Given the description of an element on the screen output the (x, y) to click on. 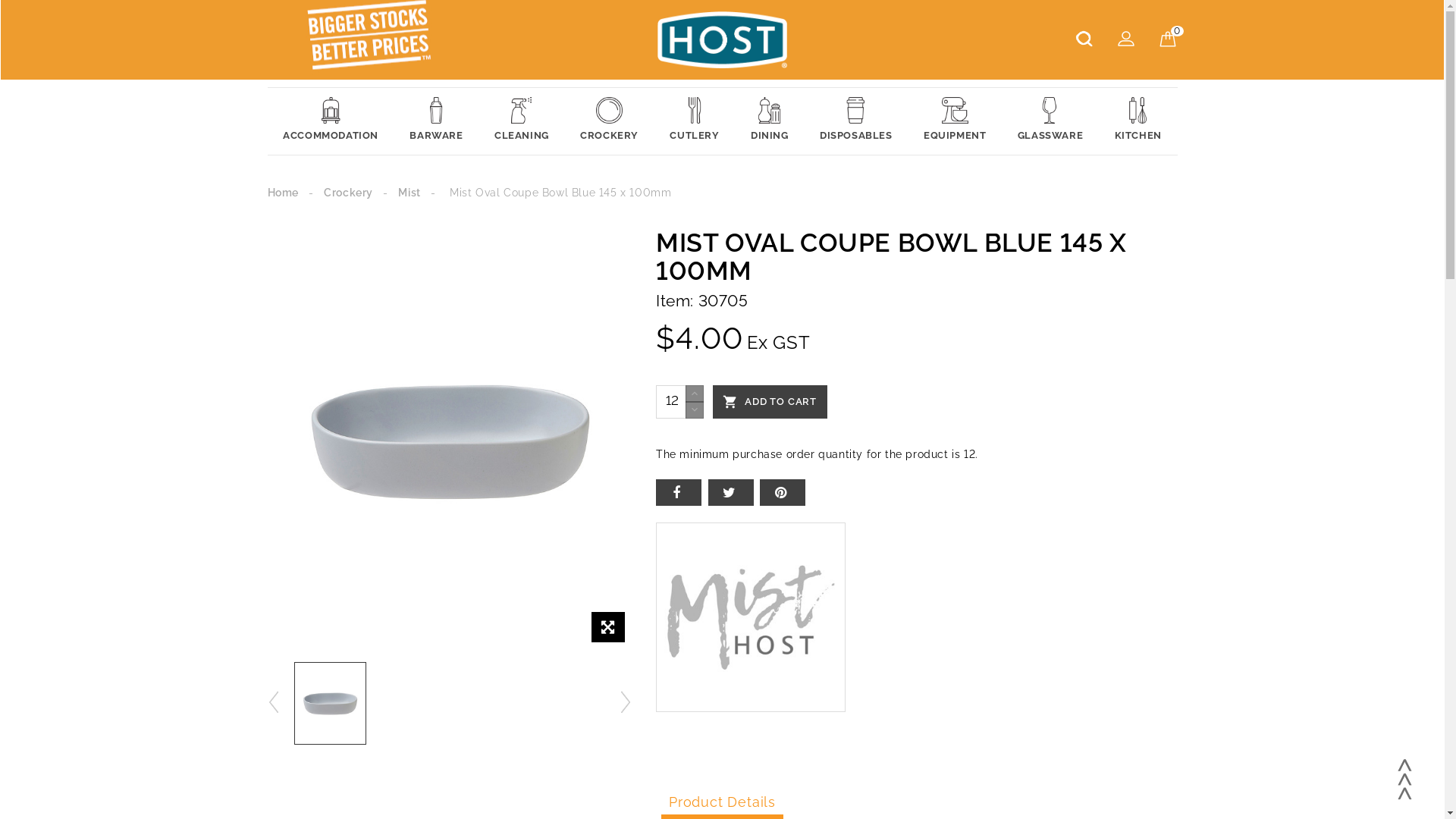
BARWARE Element type: text (436, 120)
GLASSWARE Element type: text (1049, 120)
  Element type: text (782, 492)
Mist Element type: text (409, 192)
Home Element type: text (282, 192)
  Element type: text (731, 492)
Pinterest Element type: hover (782, 492)
  Element type: text (273, 701)
CROCKERY Element type: text (608, 120)
  Element type: text (678, 492)
Crockery Element type: text (348, 192)
Mist Oval Coupe Bowl Blue 145 x 100mm Element type: hover (449, 439)
CLEANING Element type: text (521, 120)
DISPOSABLES Element type: text (855, 120)
  Element type: text (1404, 779)
Tweet Element type: hover (731, 492)
KITCHEN Element type: text (1137, 120)
ACCOMMODATION Element type: text (329, 120)
  Element type: text (626, 701)
EQUIPMENT Element type: text (954, 120)
0 Element type: text (1167, 39)
Mist Oval Coupe Bowl Blue 145 x 100mm Element type: hover (330, 703)
CUTLERY Element type: text (694, 120)
Share Element type: hover (678, 492)
DINING Element type: text (768, 120)
